Given the description of an element on the screen output the (x, y) to click on. 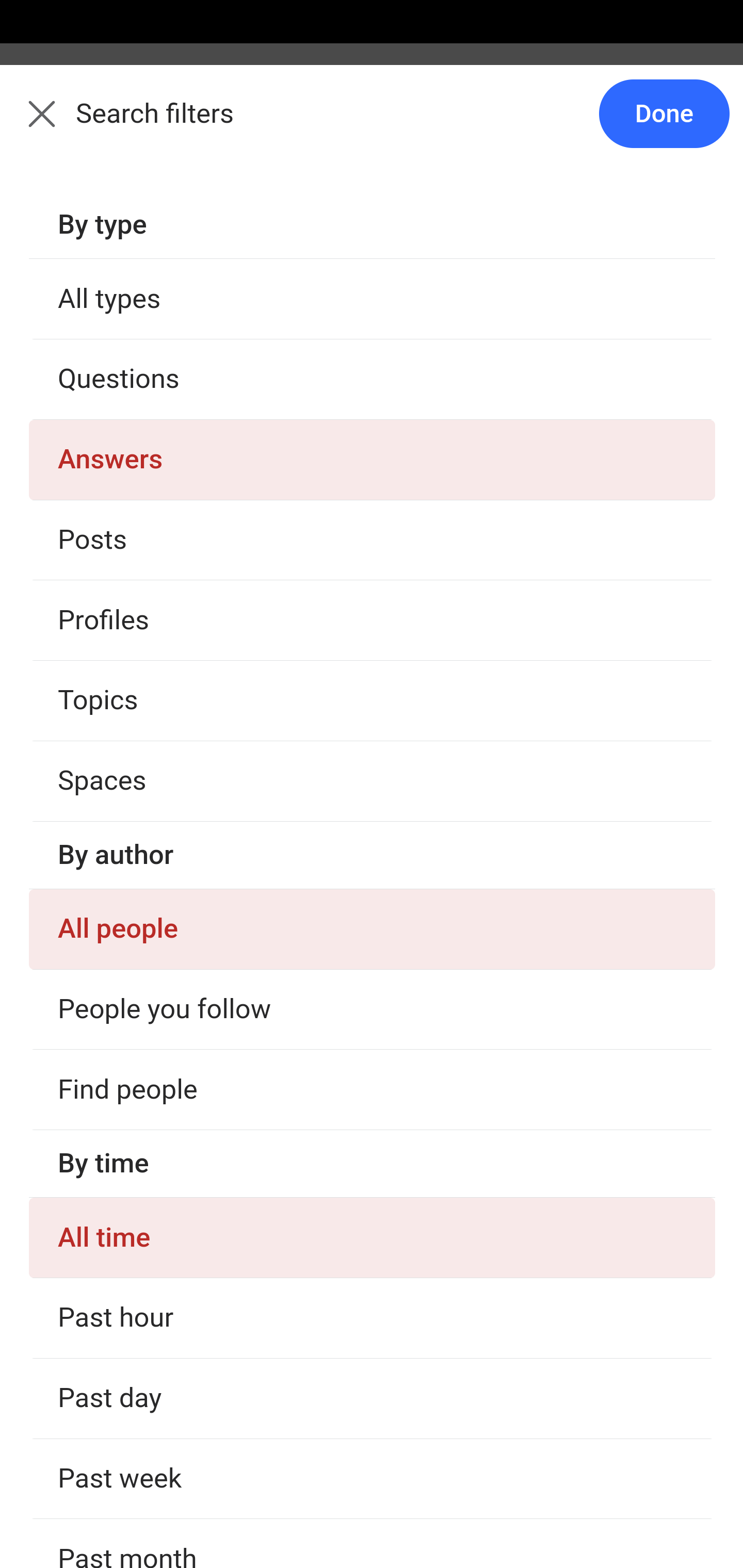
Back Search (371, 125)
Back (30, 125)
Answer (125, 784)
Answer (125, 1179)
Answer (125, 1378)
